Given the description of an element on the screen output the (x, y) to click on. 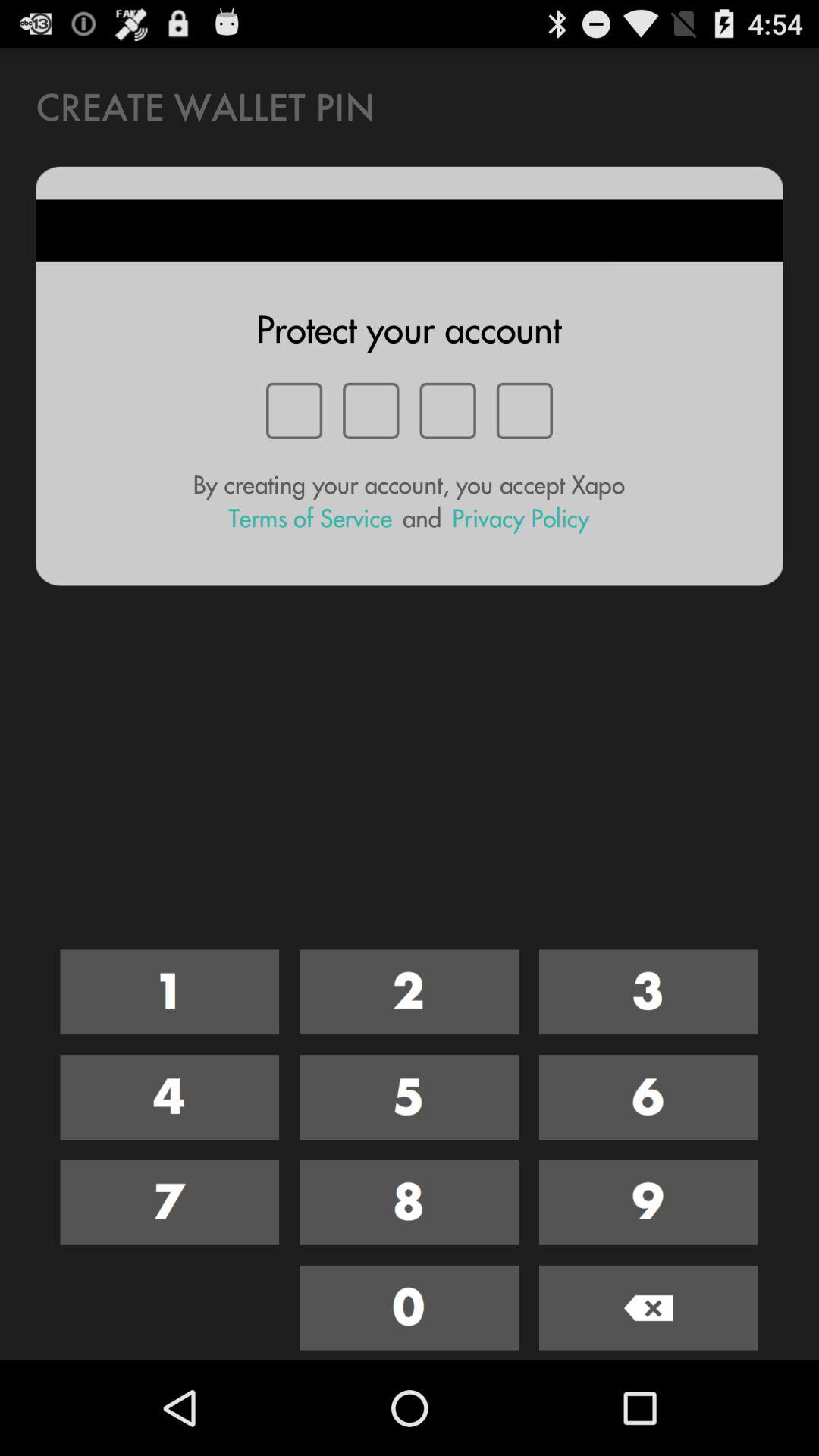
seven key for password (169, 1202)
